Given the description of an element on the screen output the (x, y) to click on. 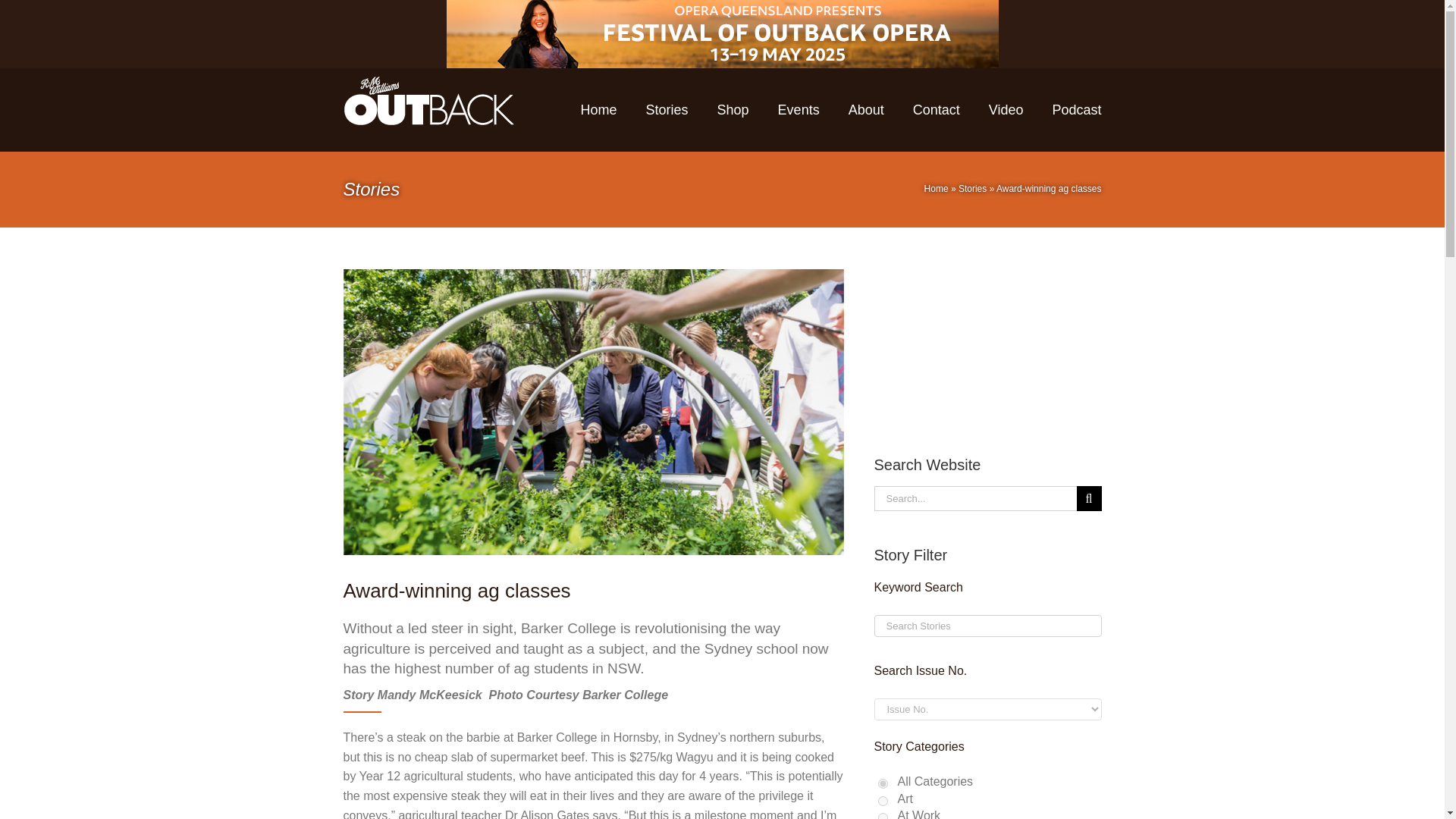
Home (936, 188)
at-work (882, 816)
art (882, 800)
Stories (972, 188)
